Given the description of an element on the screen output the (x, y) to click on. 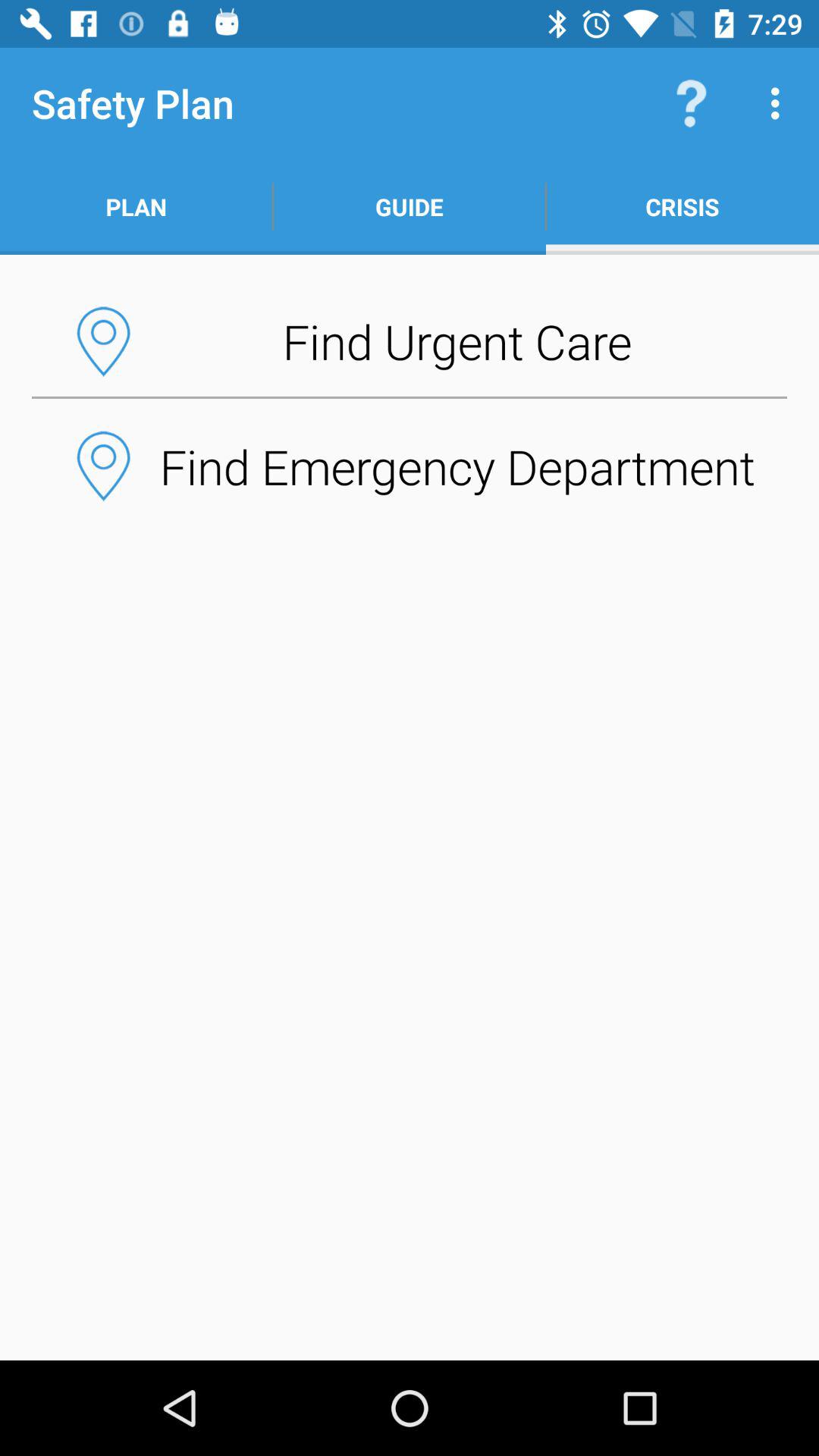
press the item to the right of plan item (409, 206)
